Given the description of an element on the screen output the (x, y) to click on. 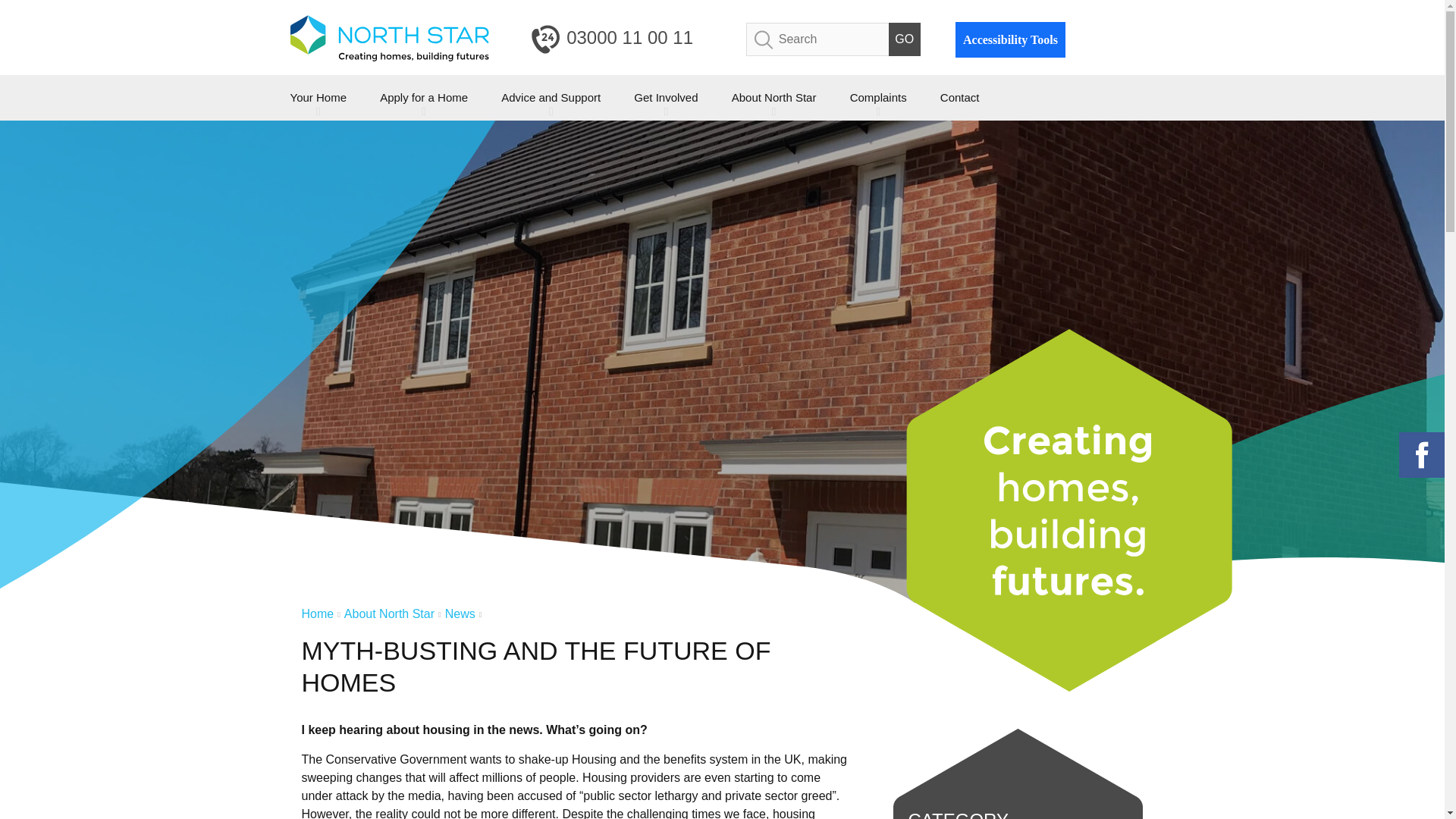
GO (904, 39)
